Given the description of an element on the screen output the (x, y) to click on. 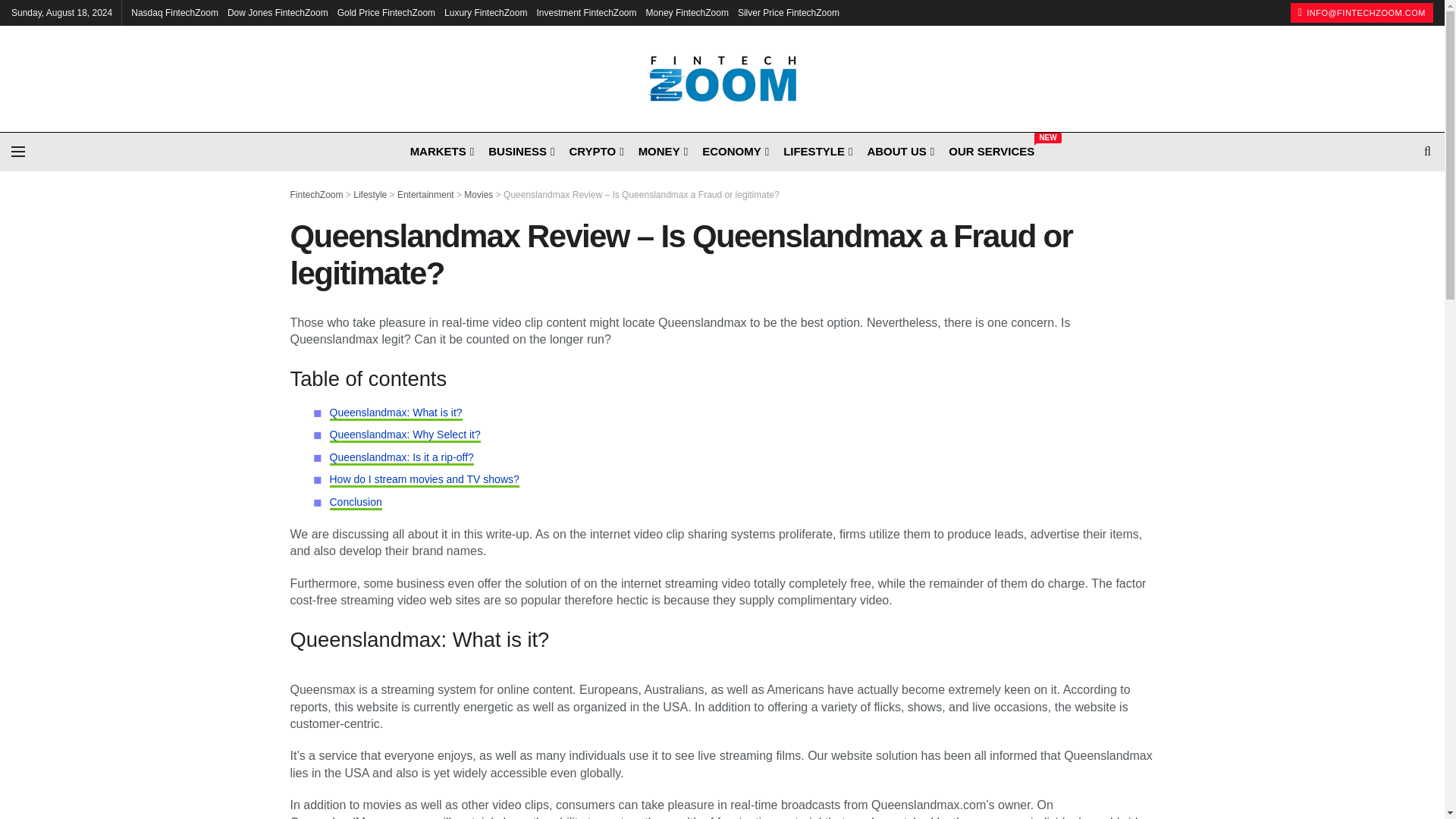
Go to FintechZoom. (315, 194)
Go to Movies. (478, 194)
Nasdaq FintechZoom (174, 12)
Money FintechZoom (687, 12)
Dow Jones FintechZoom (278, 12)
Silver Price FintechZoom (789, 12)
Go to Lifestyle. (370, 194)
Investment FintechZoom (585, 12)
Luxury FintechZoom (485, 12)
MARKETS (440, 151)
